Given the description of an element on the screen output the (x, y) to click on. 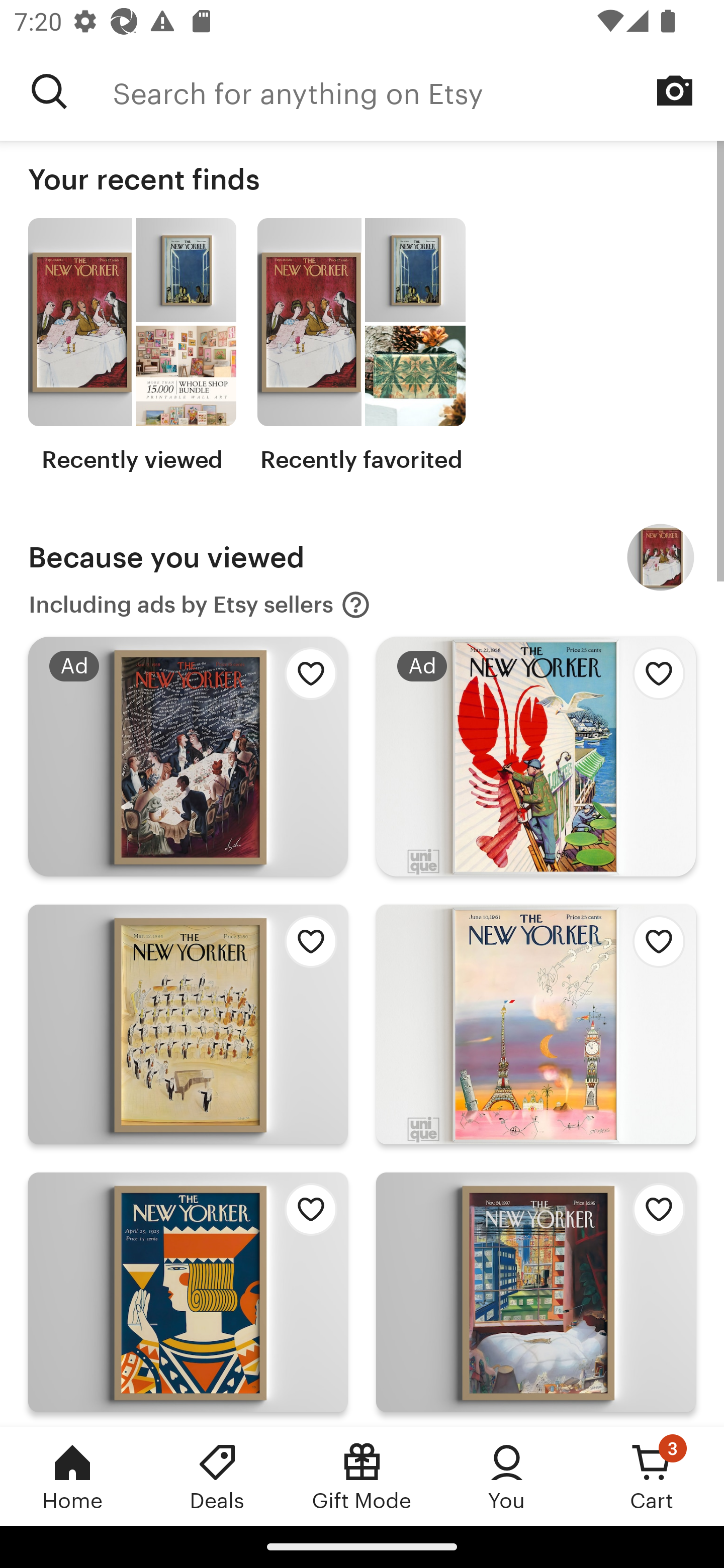
Search for anything on Etsy (49, 91)
Search by image (674, 90)
Search for anything on Etsy (418, 91)
Recently viewed (132, 345)
Recently favorited (361, 345)
Including ads by Etsy sellers (199, 604)
Deals (216, 1475)
Gift Mode (361, 1475)
You (506, 1475)
Cart, 3 new notifications Cart (651, 1475)
